Given the description of an element on the screen output the (x, y) to click on. 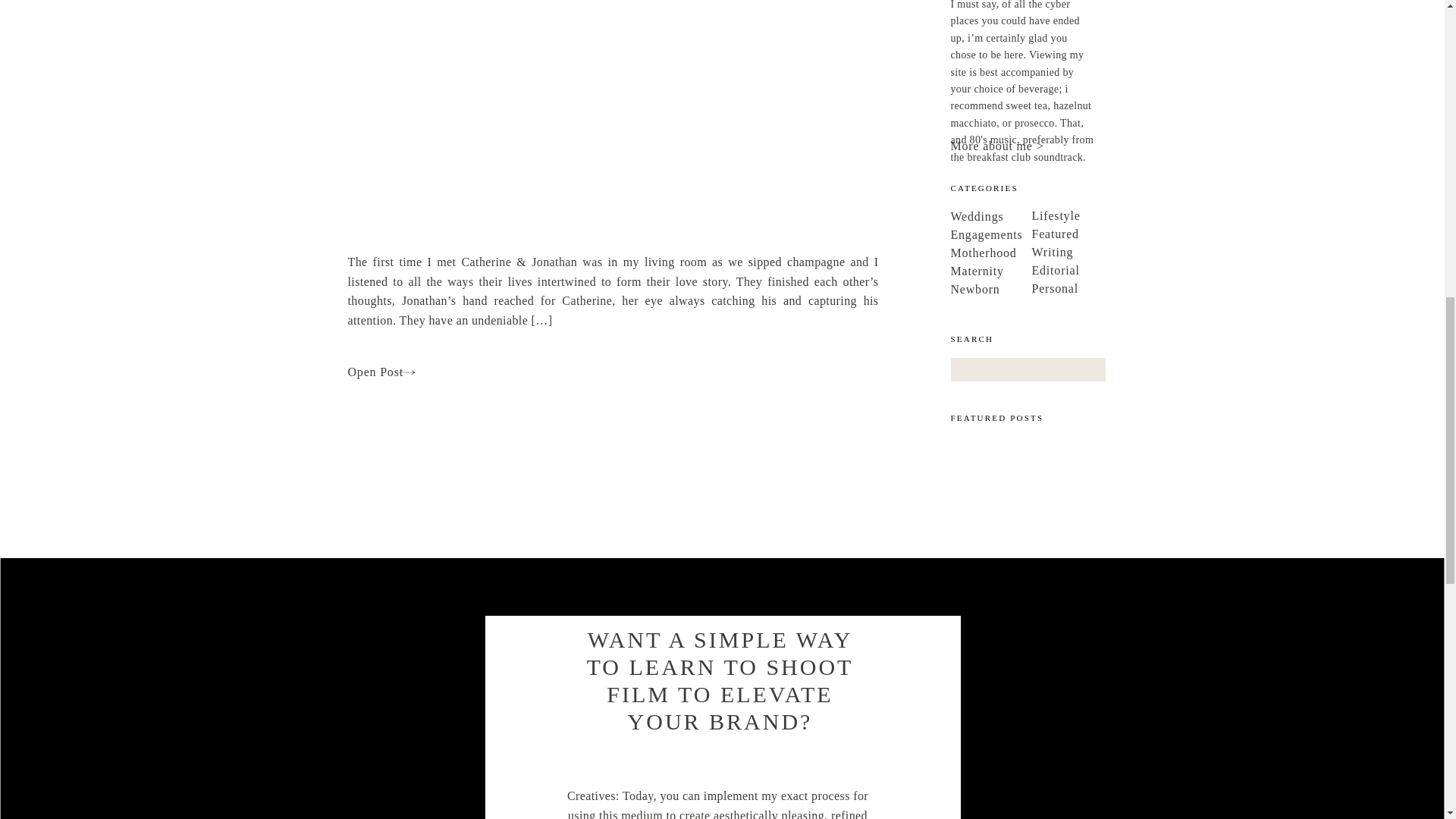
Weddings (1022, 213)
Personal (1102, 286)
Editorial (1102, 268)
Lifestyle (1102, 213)
Maternity (1022, 268)
Writing (1102, 249)
Newborn (1022, 286)
Featured (1102, 231)
Engagements (1022, 232)
Motherhood (1022, 250)
